Given the description of an element on the screen output the (x, y) to click on. 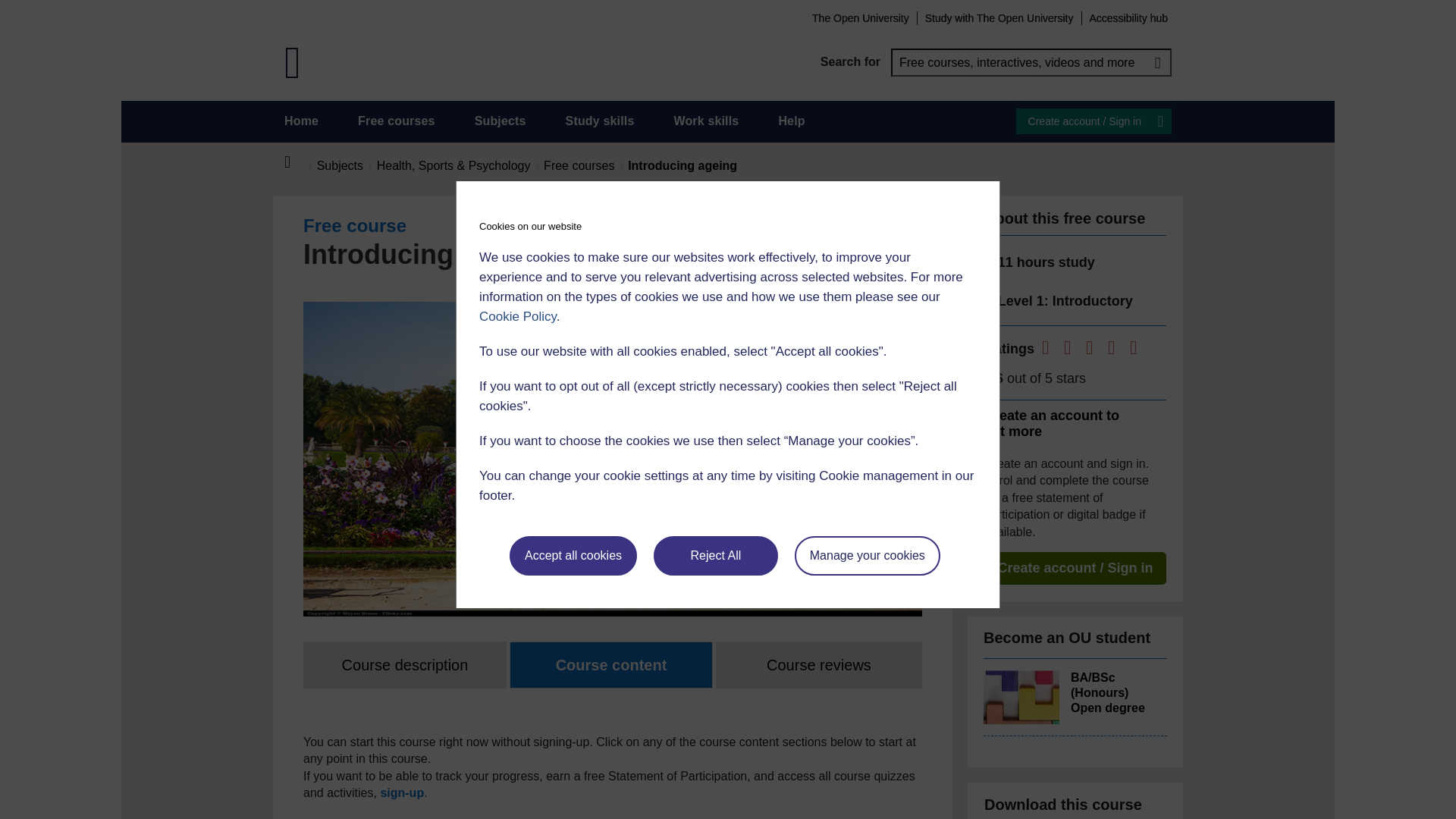
Free courses (396, 120)
The Open University (860, 17)
Accessibility hub (1129, 17)
Help (791, 120)
Course description (404, 664)
Cookie Policy (517, 316)
Subjects (499, 120)
Home (295, 162)
Search (1157, 62)
Reject All (715, 555)
Study with The Open University (999, 17)
Home (300, 120)
Course content (611, 664)
Work skills (705, 120)
